Given the description of an element on the screen output the (x, y) to click on. 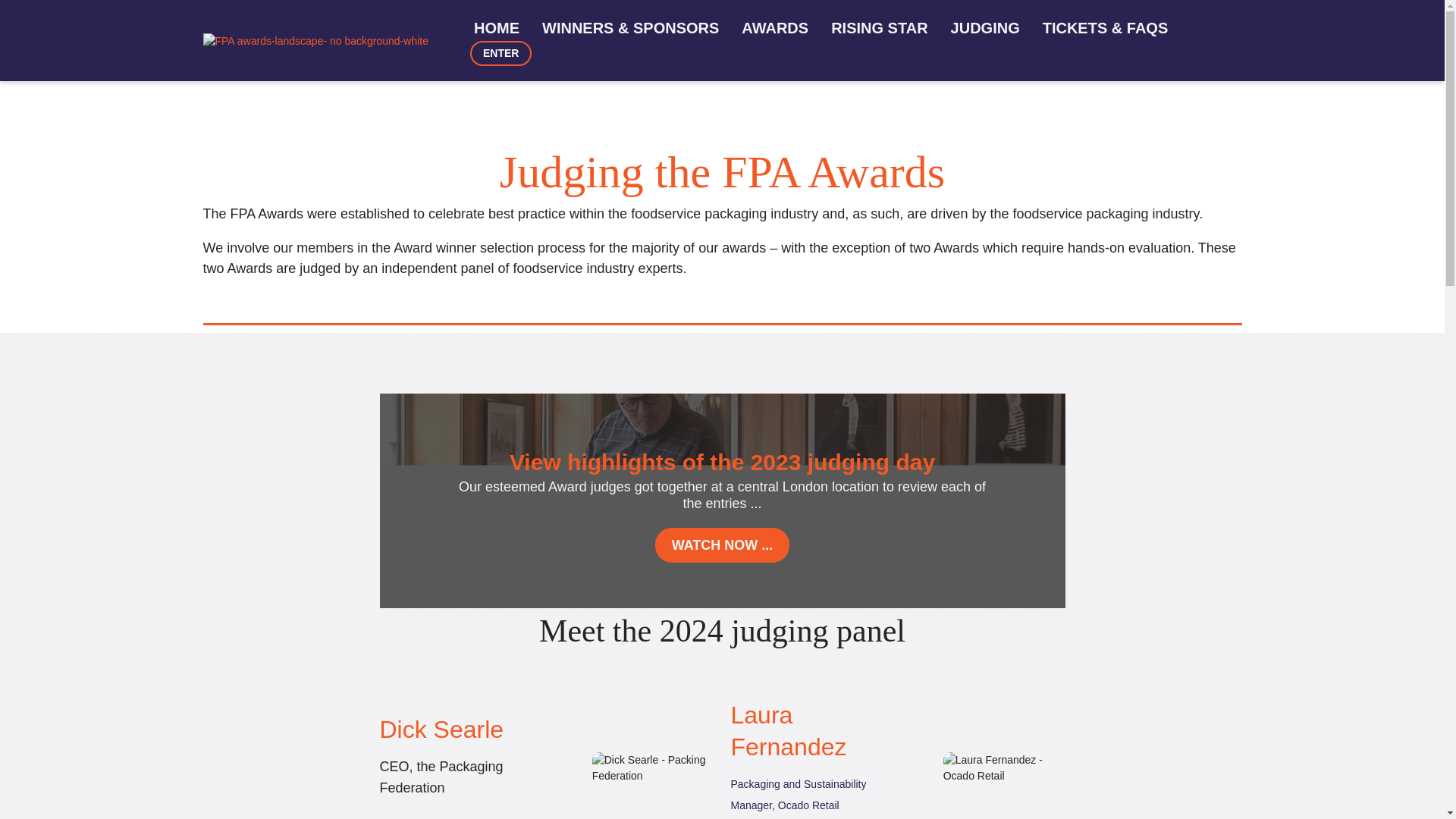
RISING STAR (879, 27)
HOME (497, 27)
JUDGING (984, 27)
FPA awards-landscape- no background-white (315, 41)
ENTER (500, 53)
AWARDS (774, 27)
WATCH NOW ... (722, 544)
